Given the description of an element on the screen output the (x, y) to click on. 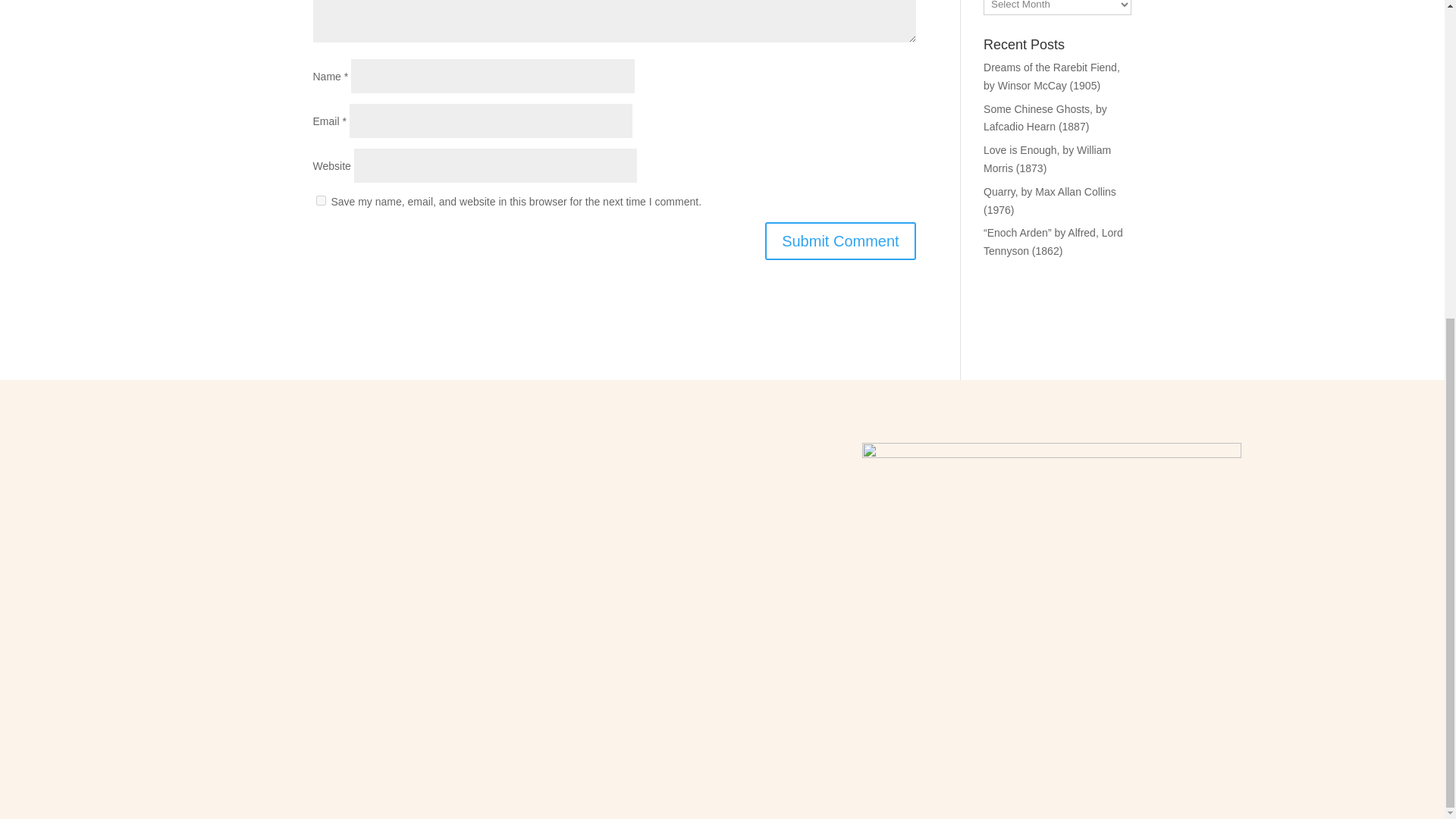
yes (319, 200)
Submit Comment (840, 240)
Submit Comment (840, 240)
dale-logo-2022 (1051, 541)
